Given the description of an element on the screen output the (x, y) to click on. 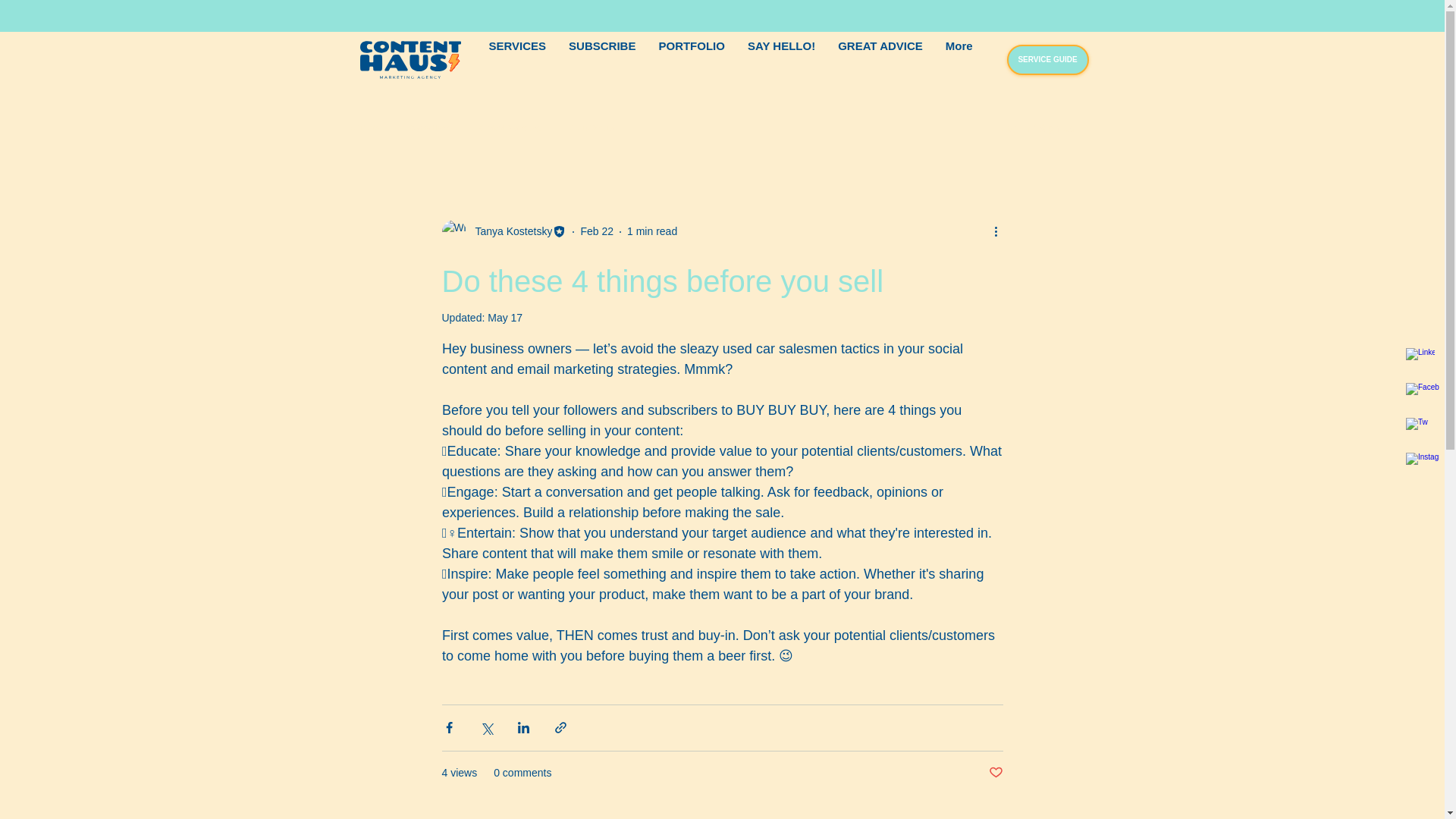
SERVICE GUIDE (1048, 60)
SAY HELLO! (781, 59)
Feb 22 (595, 231)
1 min read (652, 231)
SUBSCRIBE (601, 59)
SERVICES (517, 59)
All Posts (364, 127)
Social Media (591, 127)
Canva Hack (428, 127)
Post not marked as liked (995, 772)
GREAT ADVICE (880, 59)
Content Marketing (509, 127)
May 17 (504, 317)
PORTFOLIO (691, 59)
Tanya Kostetsky (508, 231)
